Given the description of an element on the screen output the (x, y) to click on. 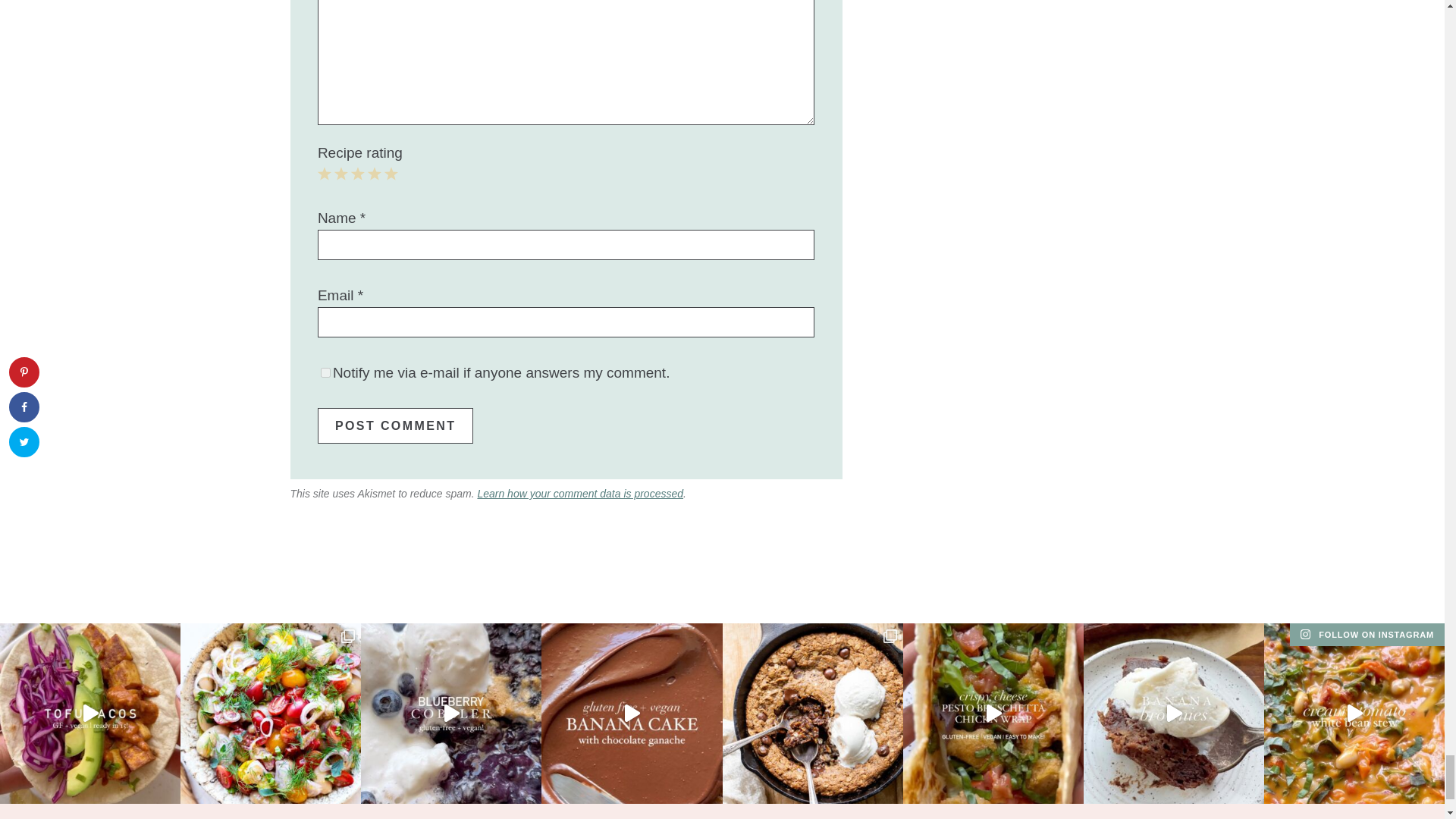
on (325, 372)
Post Comment (395, 425)
